Given the description of an element on the screen output the (x, y) to click on. 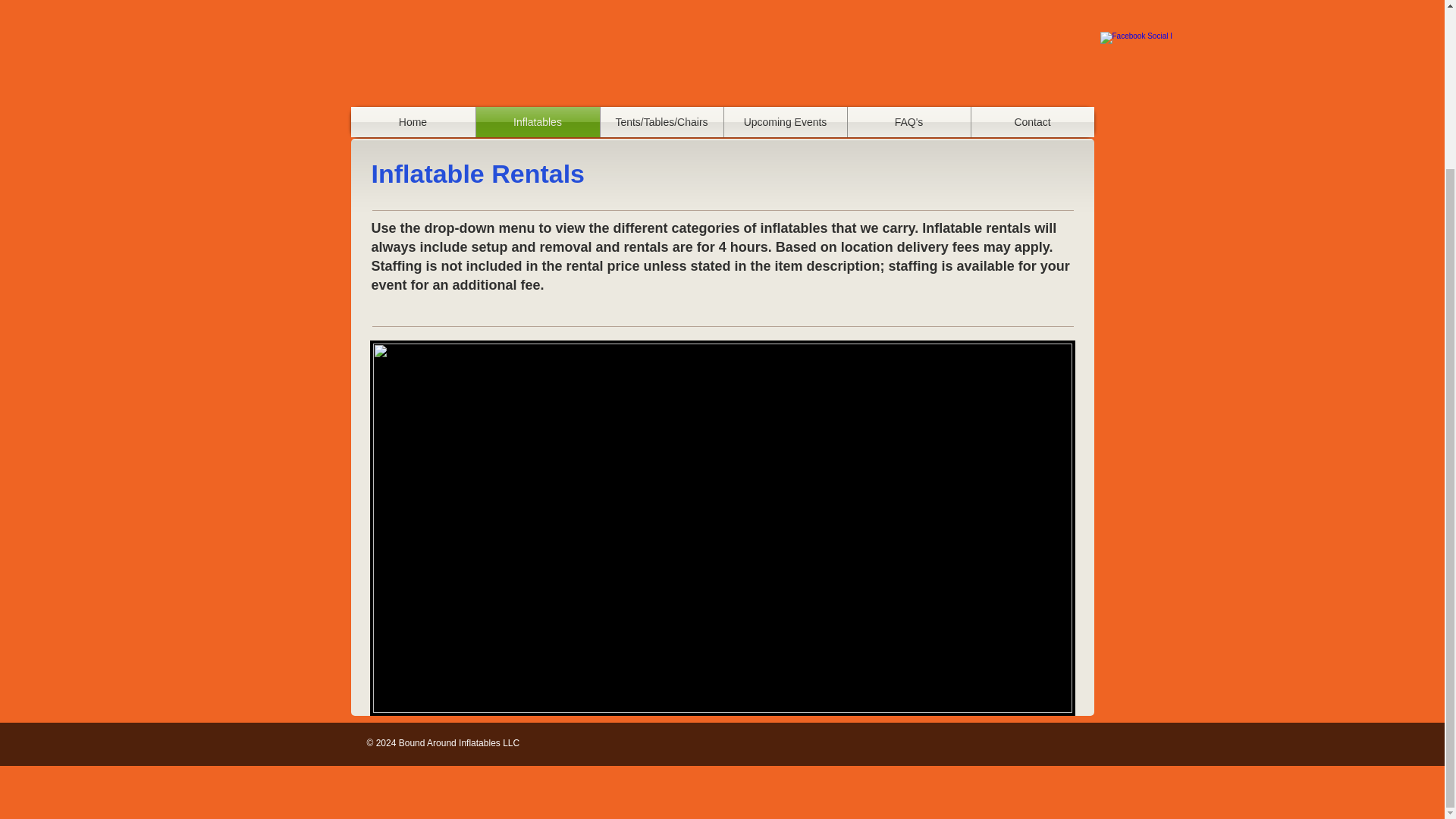
Upcoming Events (784, 122)
FAQ's (909, 122)
Home (412, 122)
Inflatables (537, 122)
Contact (1032, 122)
